Given the description of an element on the screen output the (x, y) to click on. 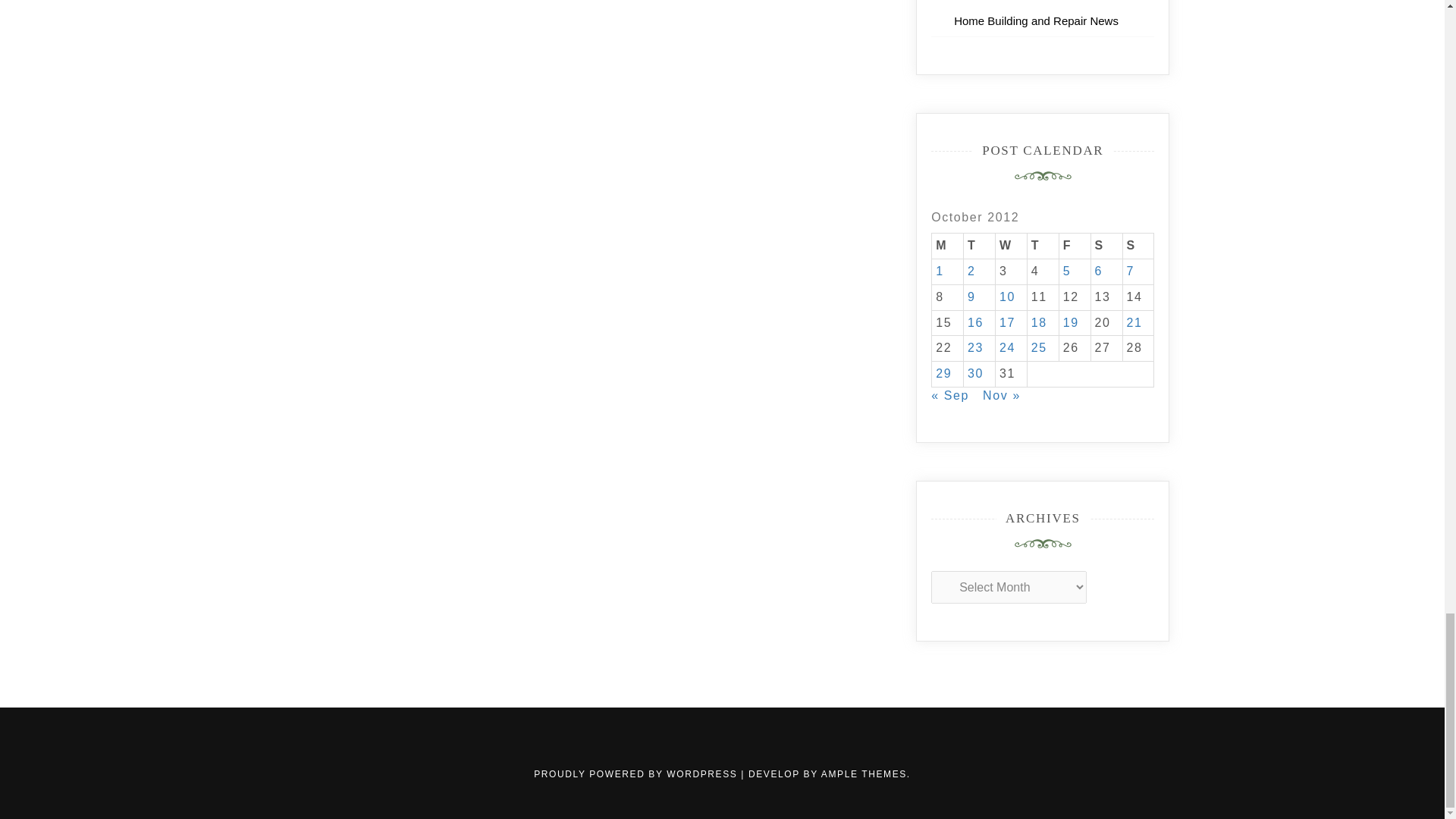
Monday (947, 246)
